Given the description of an element on the screen output the (x, y) to click on. 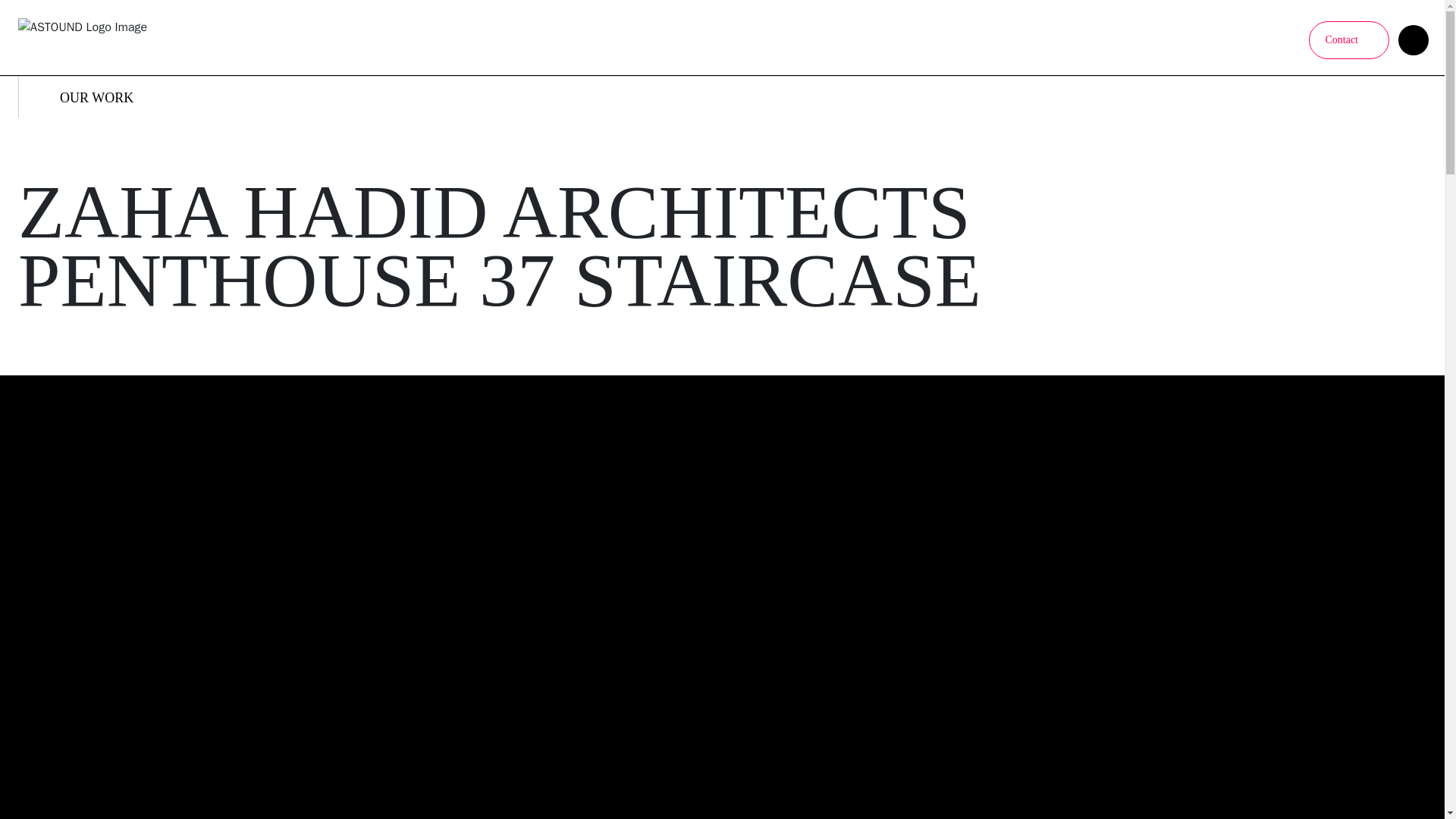
OUR WORK (85, 96)
Contact (1348, 39)
